Given the description of an element on the screen output the (x, y) to click on. 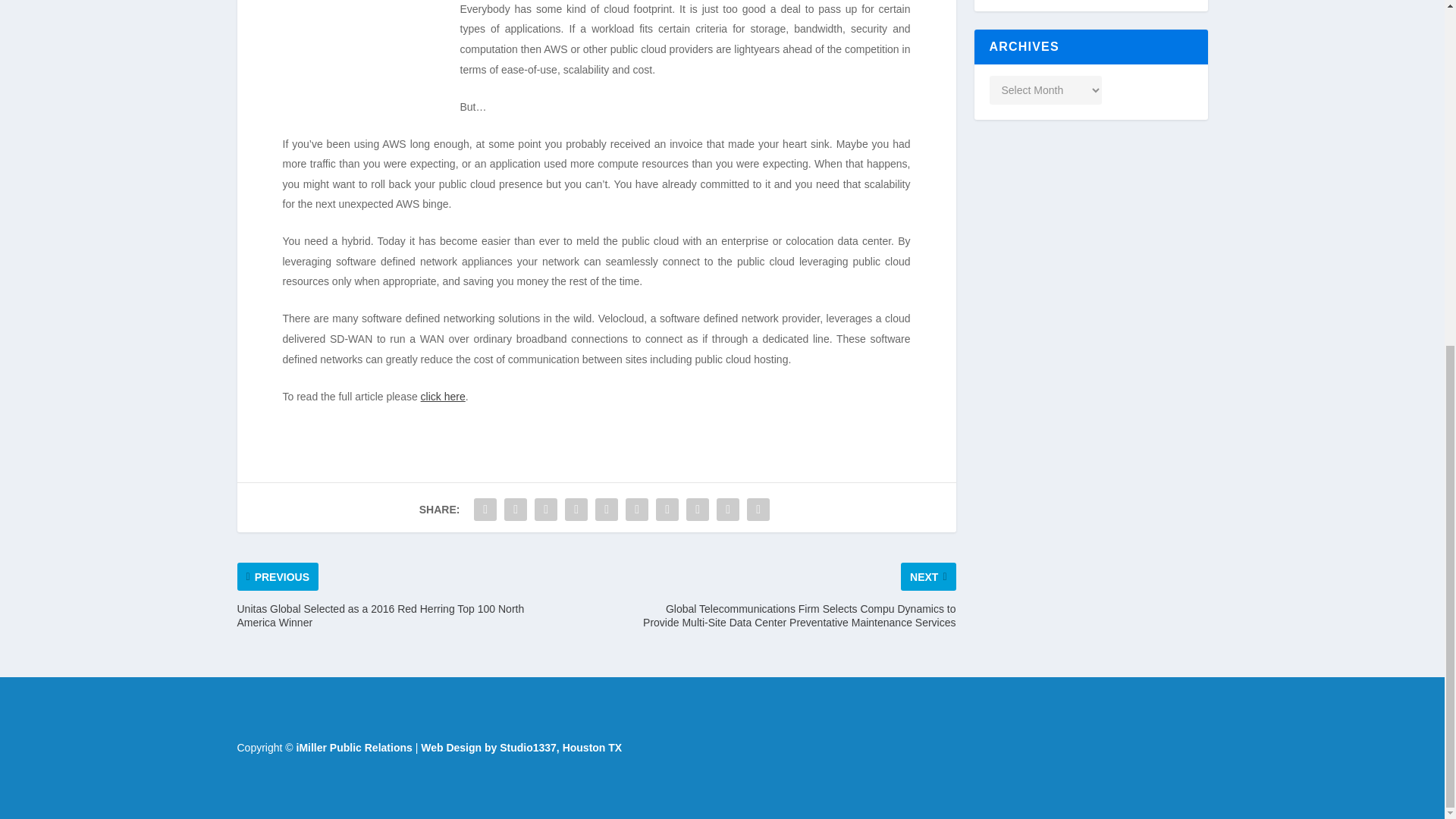
Share "Integrating Colo with the Cloud" via Print (757, 509)
click here (442, 396)
Share "Integrating Colo with the Cloud" via Buffer (667, 509)
Share "Integrating Colo with the Cloud" via Facebook (485, 509)
Share "Integrating Colo with the Cloud" via Email (727, 509)
Share "Integrating Colo with the Cloud" via Twitter (515, 509)
Share "Integrating Colo with the Cloud" via Pinterest (606, 509)
Share "Integrating Colo with the Cloud" via LinkedIn (636, 509)
Share "Integrating Colo with the Cloud" via Stumbleupon (697, 509)
Share "Integrating Colo with the Cloud" via Tumblr (575, 509)
